Given the description of an element on the screen output the (x, y) to click on. 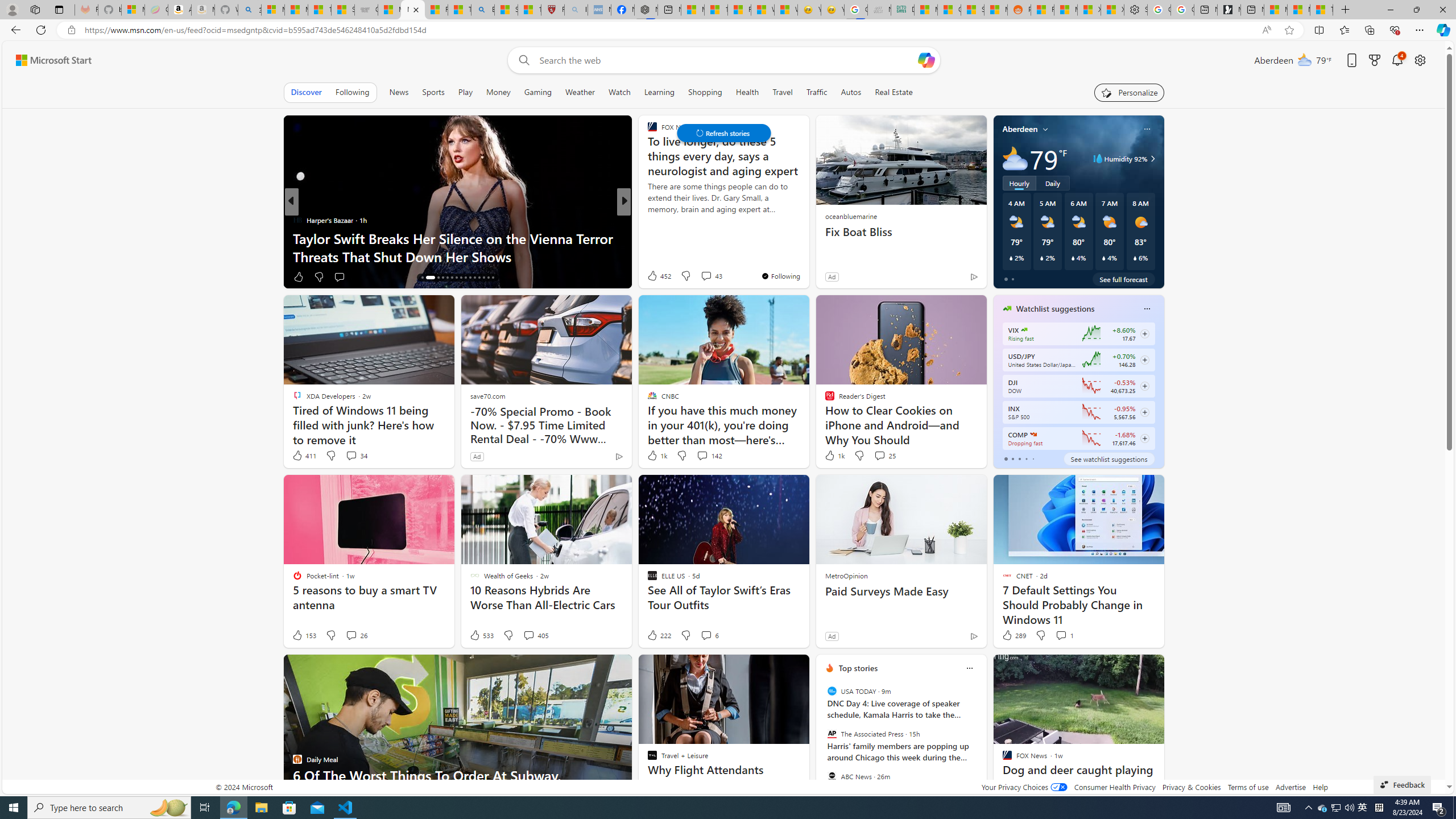
6 Like (651, 276)
View comments 7 Comment (703, 276)
Personalize your feed" (1129, 92)
View comments 142 Comment (708, 455)
AutomationID: tab-19 (442, 277)
